Given the description of an element on the screen output the (x, y) to click on. 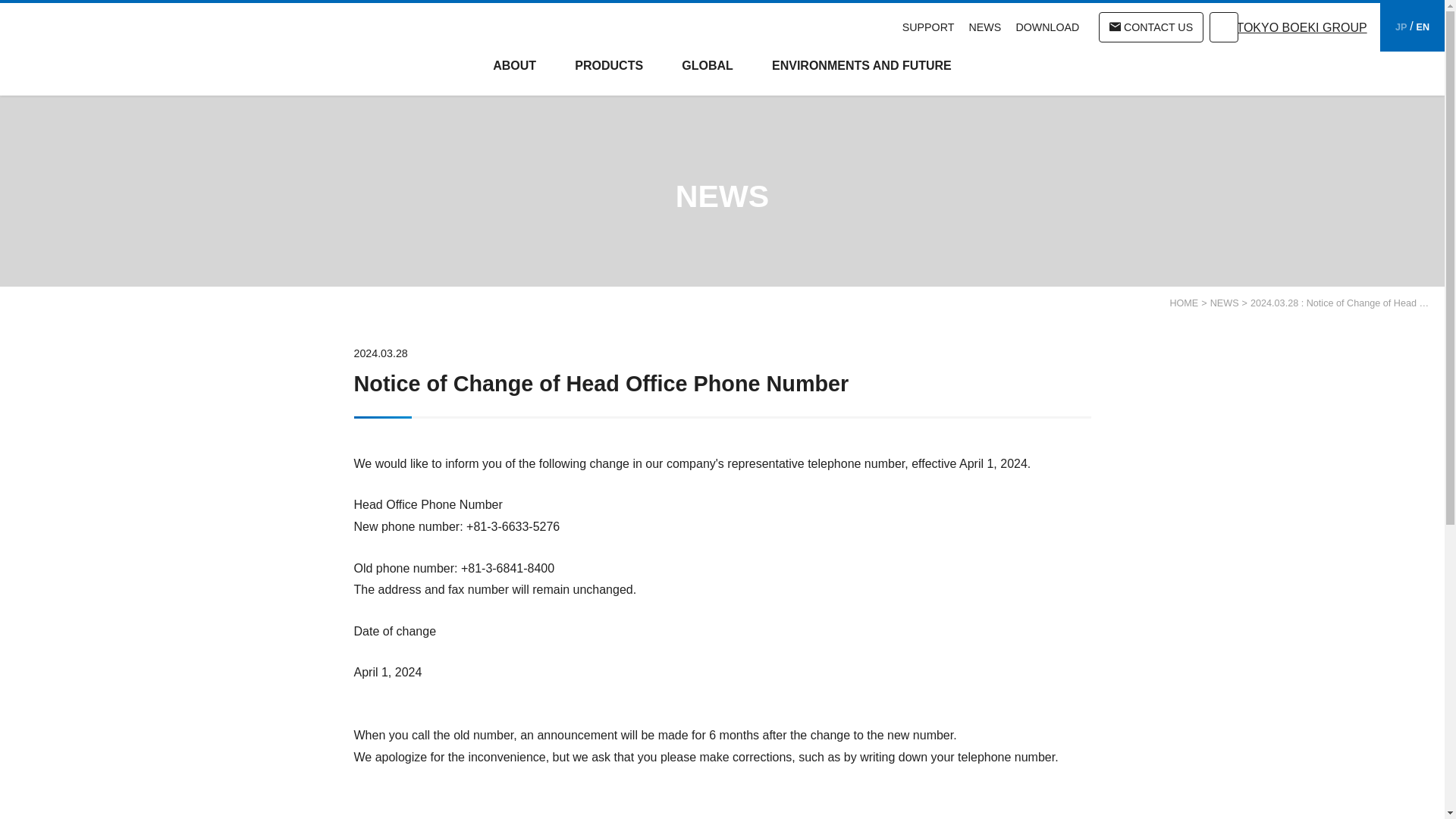
SUPPORT (928, 27)
NEWS (1224, 303)
DOWNLOAD (1048, 27)
GLOBAL (707, 73)
ABOUT (515, 73)
JP (1400, 27)
ENVIRONMENTS AND FUTURE (861, 73)
HOME (1183, 303)
NEWS (985, 27)
CONTACT US (1151, 27)
PRODUCTS (609, 73)
